Given the description of an element on the screen output the (x, y) to click on. 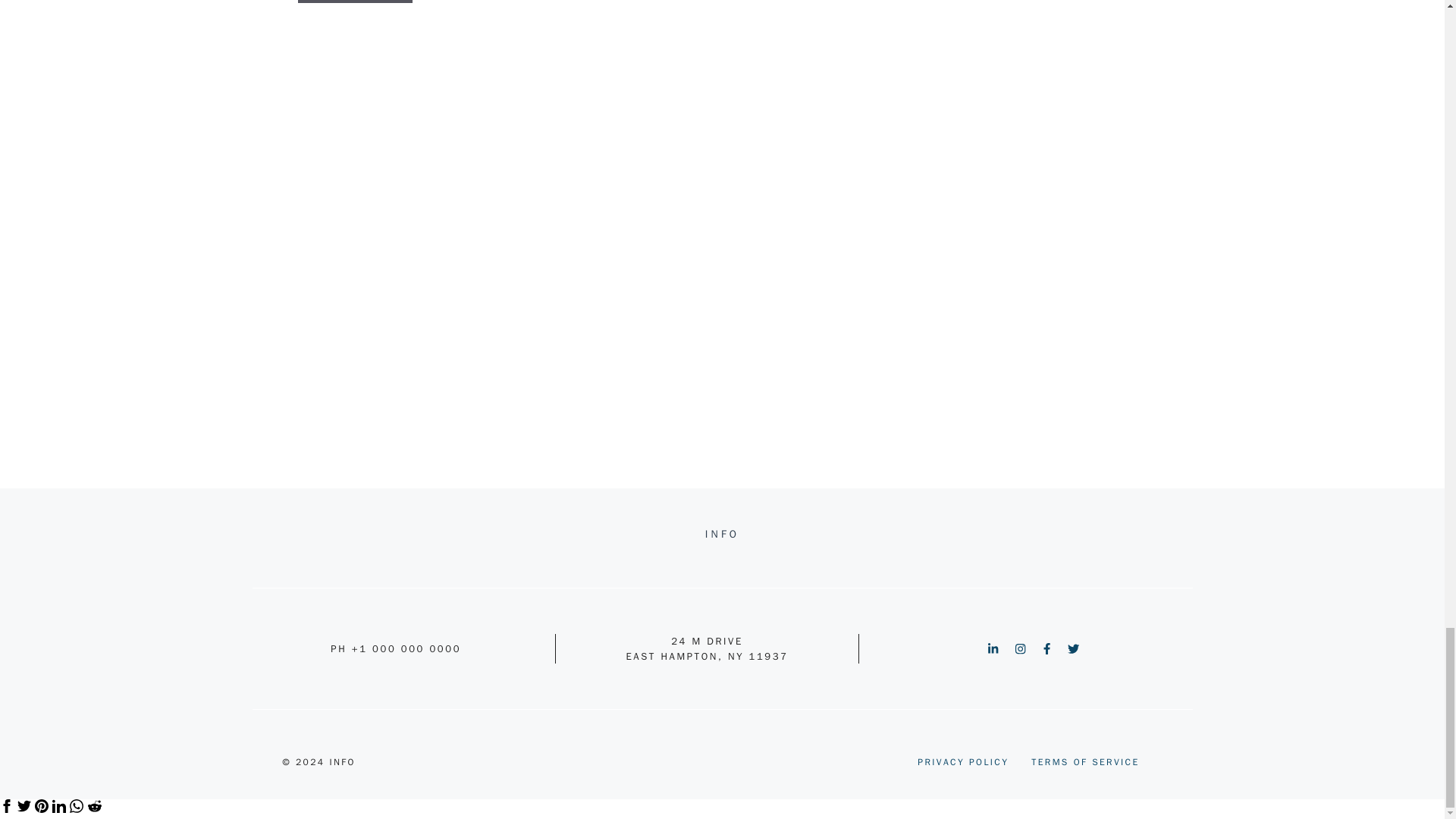
Post Comment (354, 2)
